Given the description of an element on the screen output the (x, y) to click on. 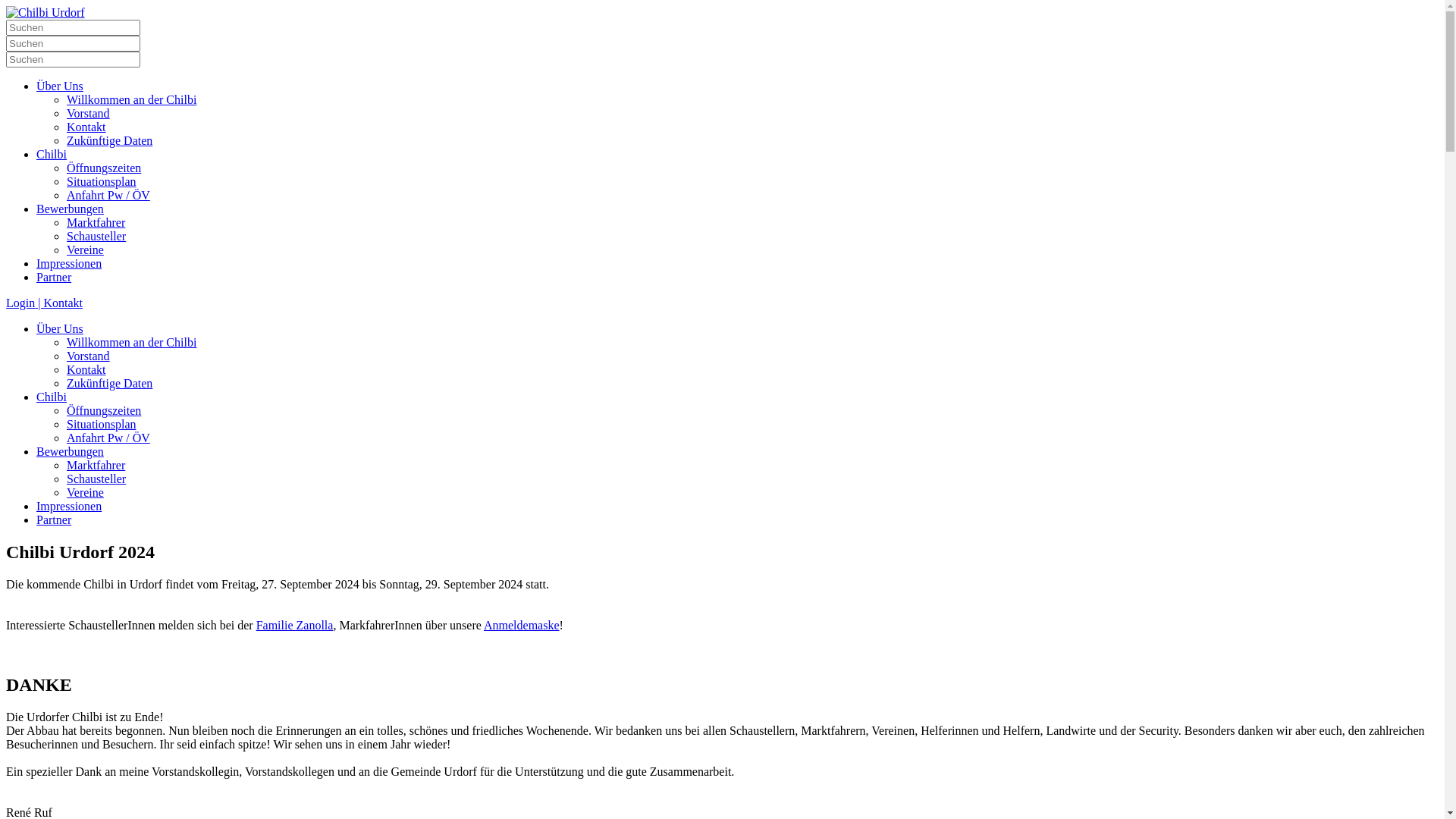
Situationsplan Element type: text (101, 423)
Partner Element type: text (53, 519)
Schausteller Element type: text (95, 478)
Anmeldemaske Element type: text (521, 624)
Vorstand Element type: text (87, 355)
Login Element type: text (20, 302)
Marktfahrer Element type: text (95, 464)
Kontakt Element type: text (86, 126)
Willkommen an der Chilbi Element type: text (131, 99)
Vereine Element type: text (84, 492)
Willkommen an der Chilbi Element type: text (131, 341)
| Kontakt Element type: text (58, 302)
Partner Element type: text (53, 276)
Familie Zanolla Element type: text (294, 624)
Impressionen Element type: text (68, 505)
Chilbi Element type: text (51, 396)
Schausteller Element type: text (95, 235)
Chilbi Element type: text (51, 153)
Vorstand Element type: text (87, 112)
Bewerbungen Element type: text (69, 208)
Situationsplan Element type: text (101, 181)
Marktfahrer Element type: text (95, 222)
Bewerbungen Element type: text (69, 451)
Vereine Element type: text (84, 249)
Kontakt Element type: text (86, 369)
Impressionen Element type: text (68, 263)
